Given the description of an element on the screen output the (x, y) to click on. 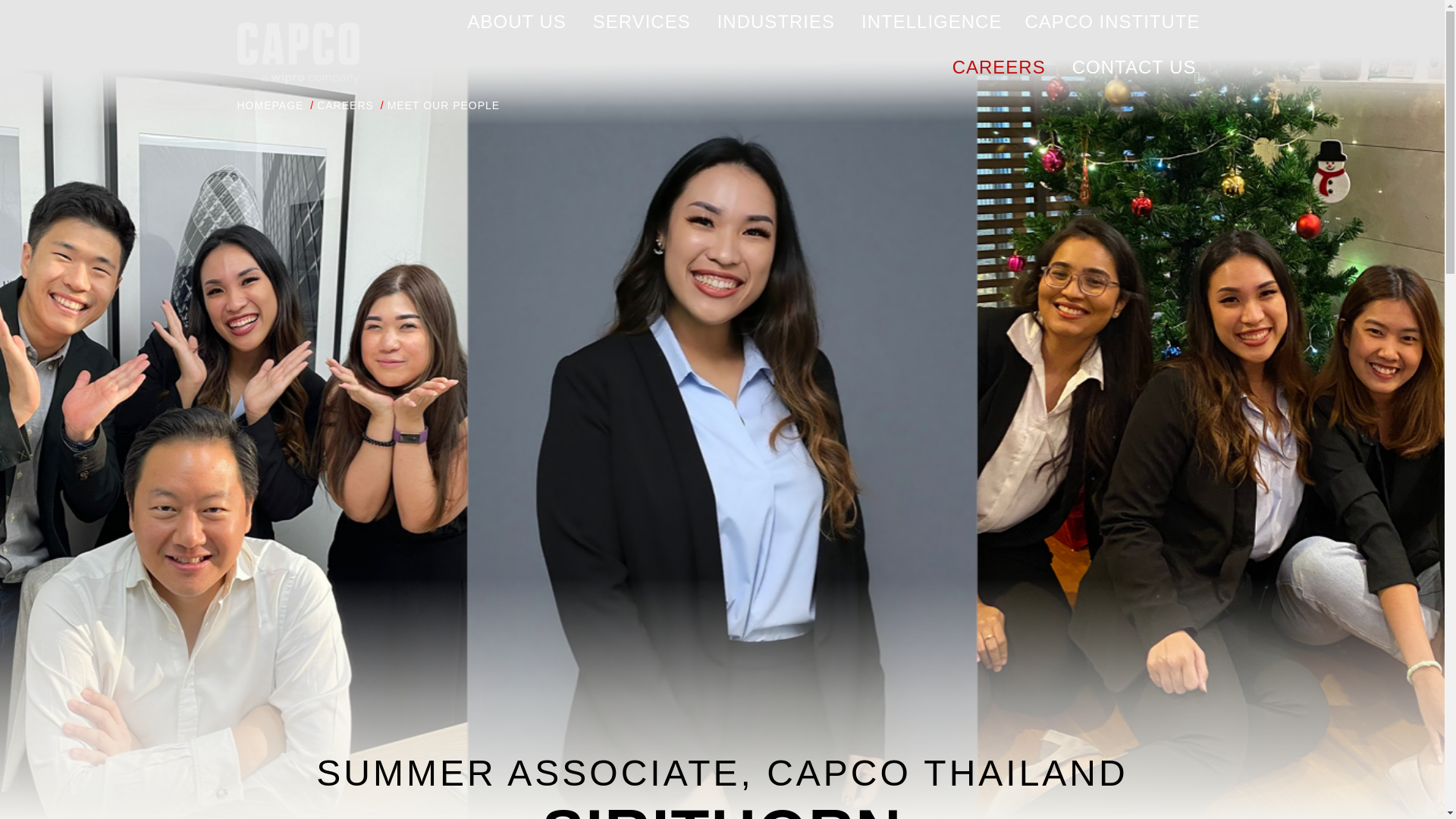
SERVICES (640, 22)
INDUSTRIES (775, 22)
CAPCO INSTITUTE (1111, 22)
ABOUT US (515, 22)
INTELLIGENCE (931, 22)
CAREERS (998, 67)
